Given the description of an element on the screen output the (x, y) to click on. 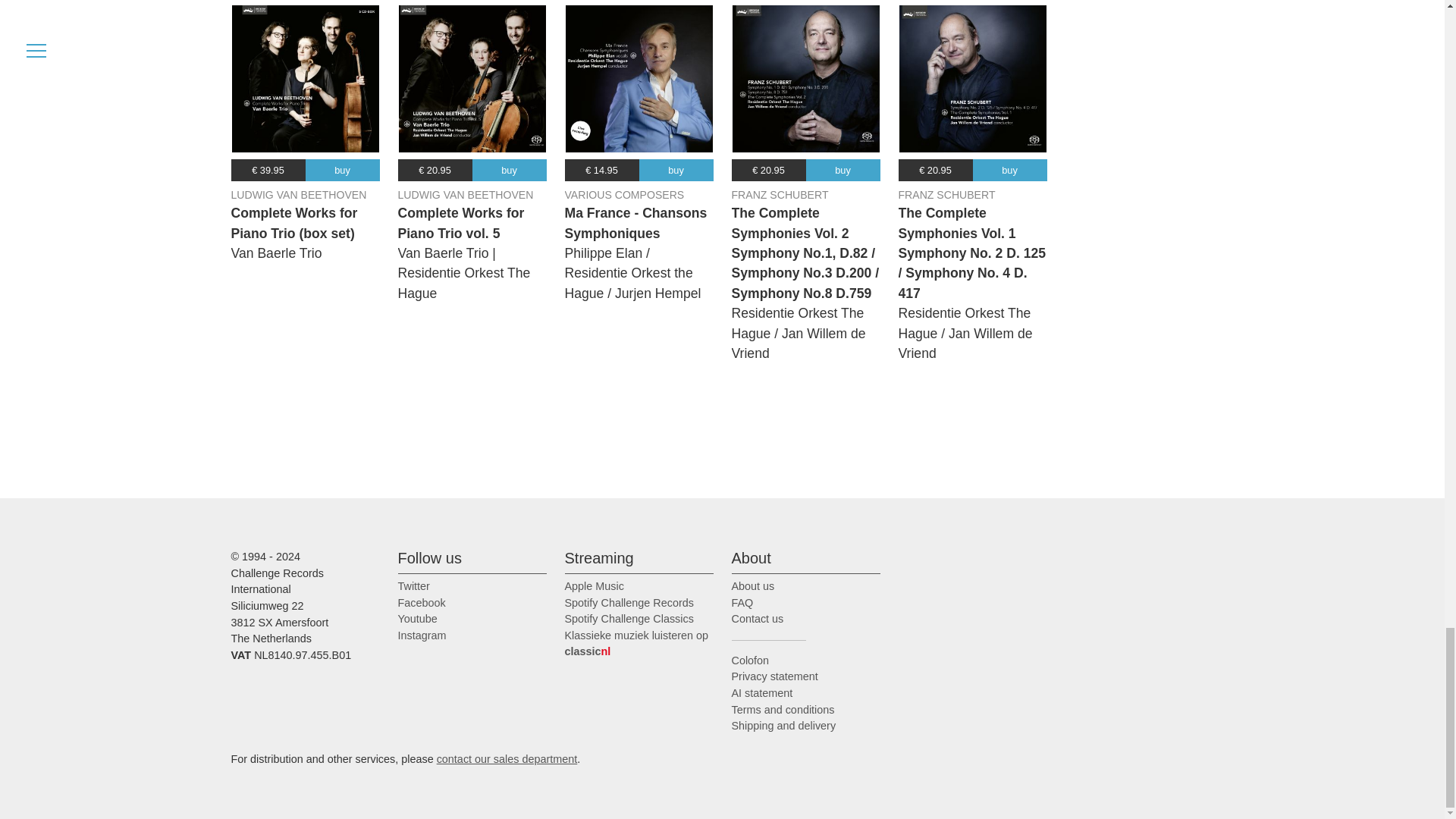
Facebook (421, 603)
Instagram (421, 635)
Youtube (416, 618)
